Given the description of an element on the screen output the (x, y) to click on. 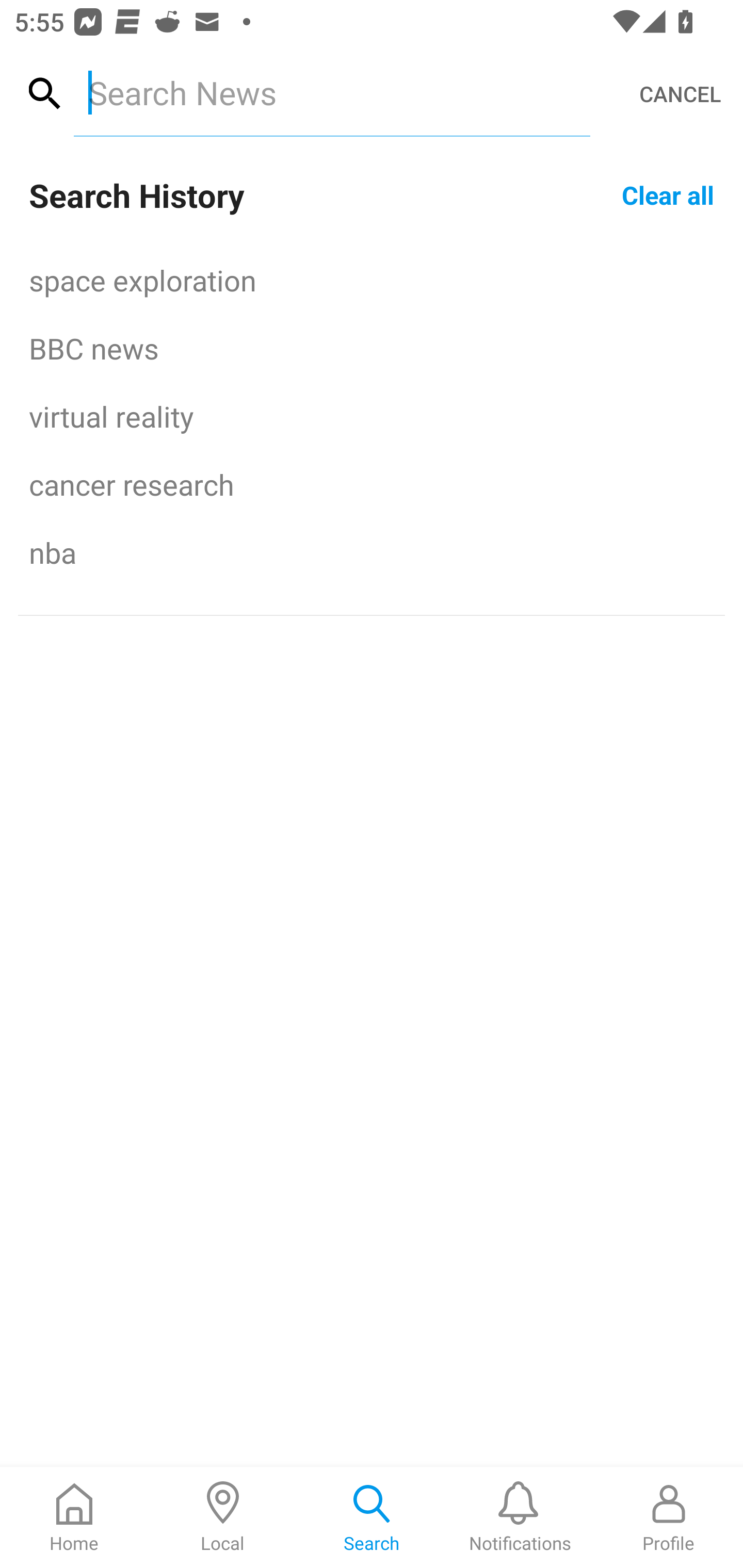
CANCEL (680, 93)
Search News (331, 92)
Clear all (667, 194)
space exploration (371, 279)
BBC news (371, 347)
virtual reality (371, 416)
cancer research (371, 484)
nba (371, 552)
Home (74, 1517)
Local (222, 1517)
Notifications (519, 1517)
Profile (668, 1517)
